Given the description of an element on the screen output the (x, y) to click on. 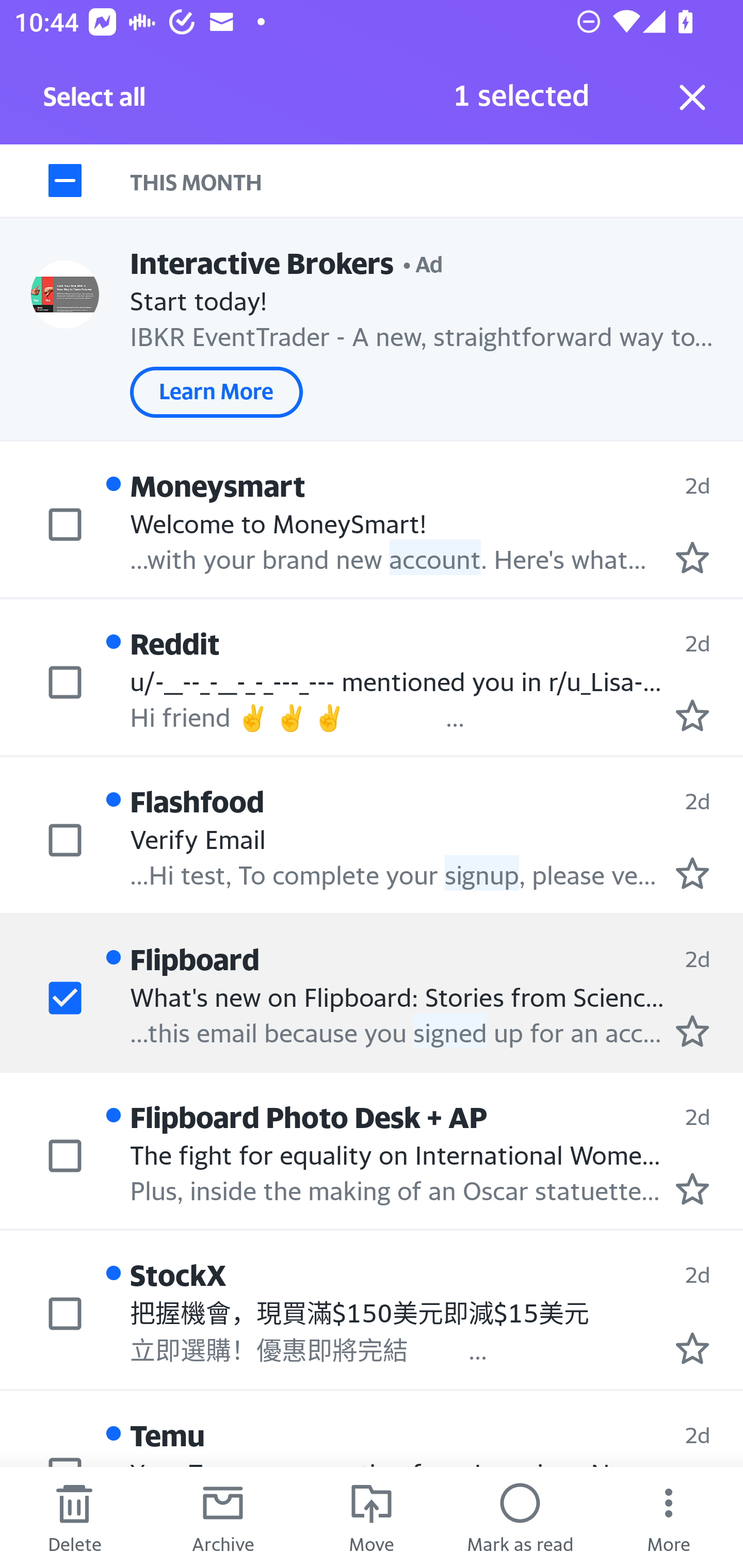
Exit selection mode (692, 97)
Select all (94, 101)
THIS MONTH (436, 180)
Mark as starred. (692, 557)
Mark as starred. (692, 715)
Mark as starred. (692, 872)
Mark as starred. (692, 1030)
Mark as starred. (692, 1189)
Mark as starred. (692, 1347)
Delete (74, 1517)
Archive (222, 1517)
Move (371, 1517)
Mark as read (519, 1517)
More (668, 1517)
